Given the description of an element on the screen output the (x, y) to click on. 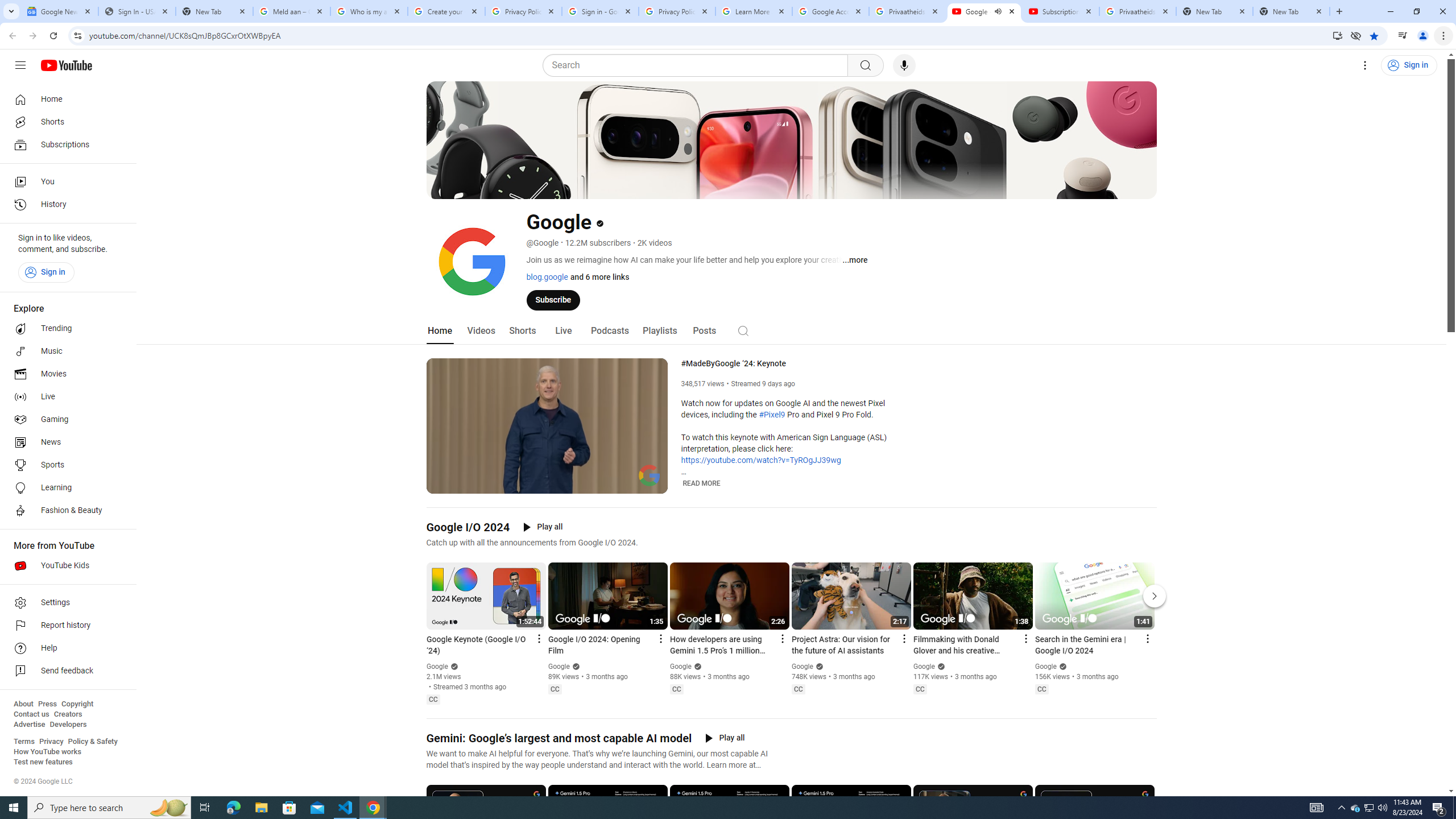
YouTube Kids (64, 565)
Policy & Safety (91, 741)
Test new features (42, 761)
Search with your voice (903, 65)
Sports (64, 464)
Google I/O 2024 (467, 526)
#Pixel9 (771, 414)
READ MORE (701, 482)
Movies (64, 373)
